Given the description of an element on the screen output the (x, y) to click on. 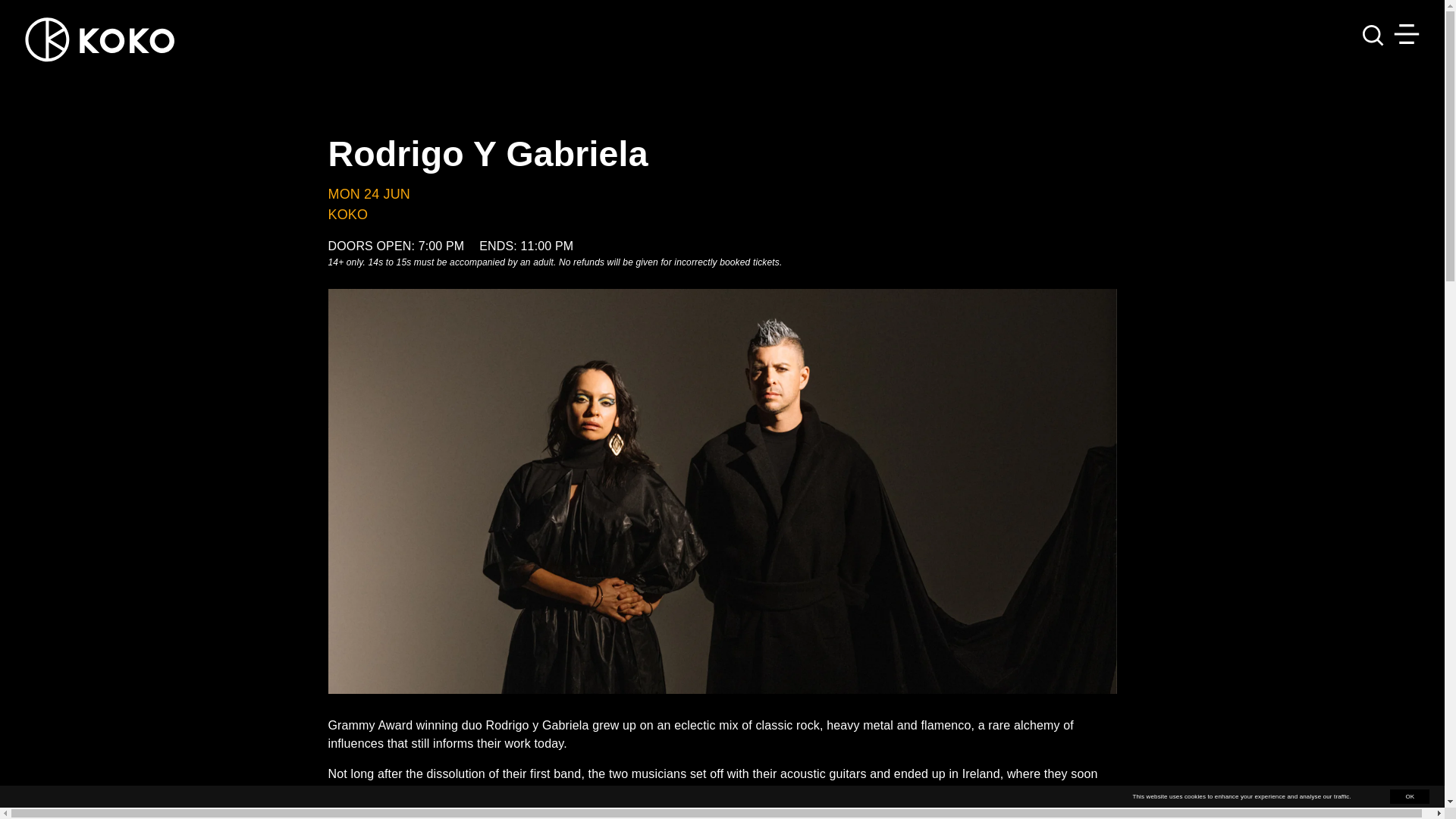
KOKO London (100, 74)
Skip To Main Content (30, 11)
KOKO London (100, 40)
